Given the description of an element on the screen output the (x, y) to click on. 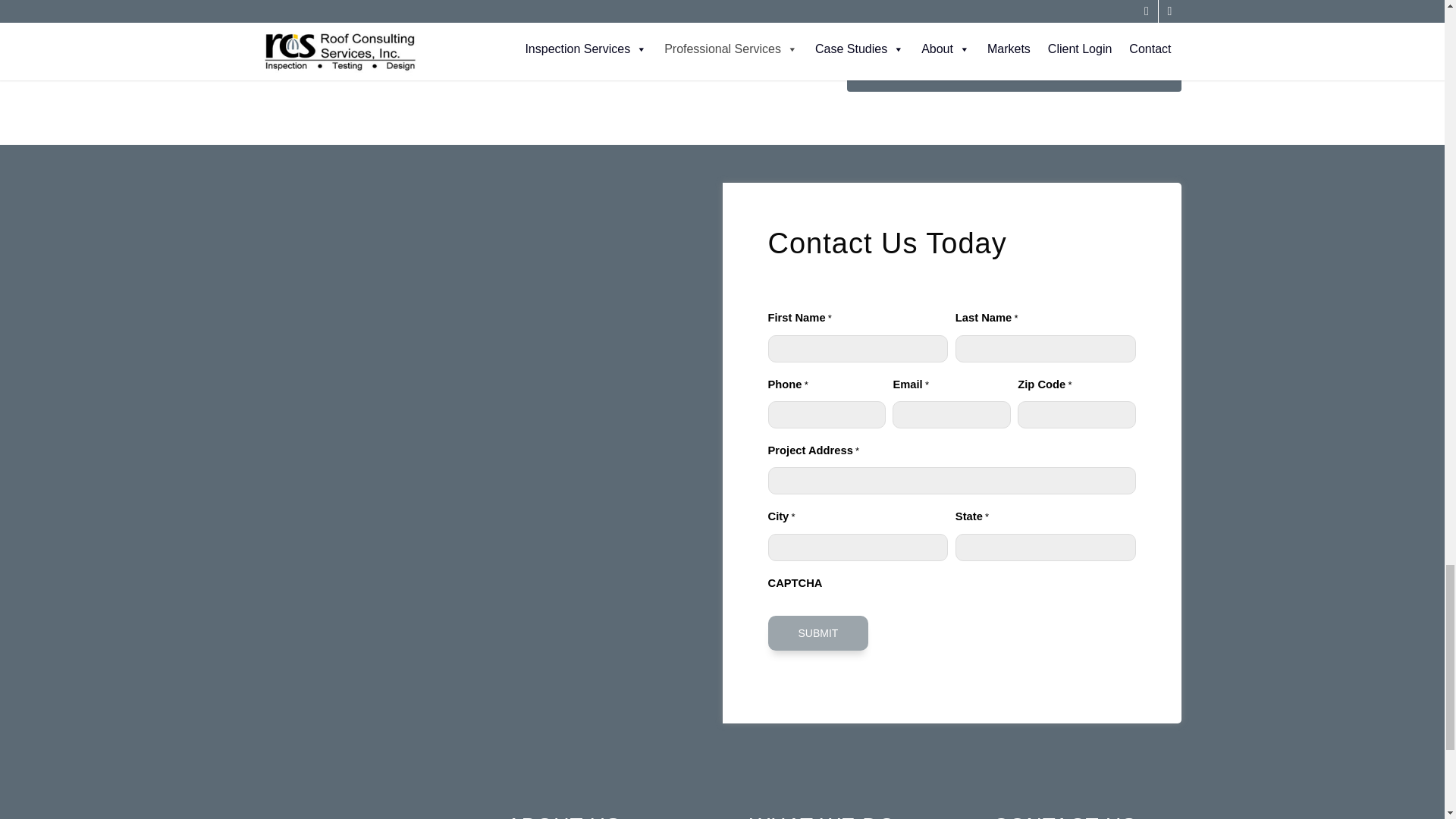
Submit (817, 632)
